Given the description of an element on the screen output the (x, y) to click on. 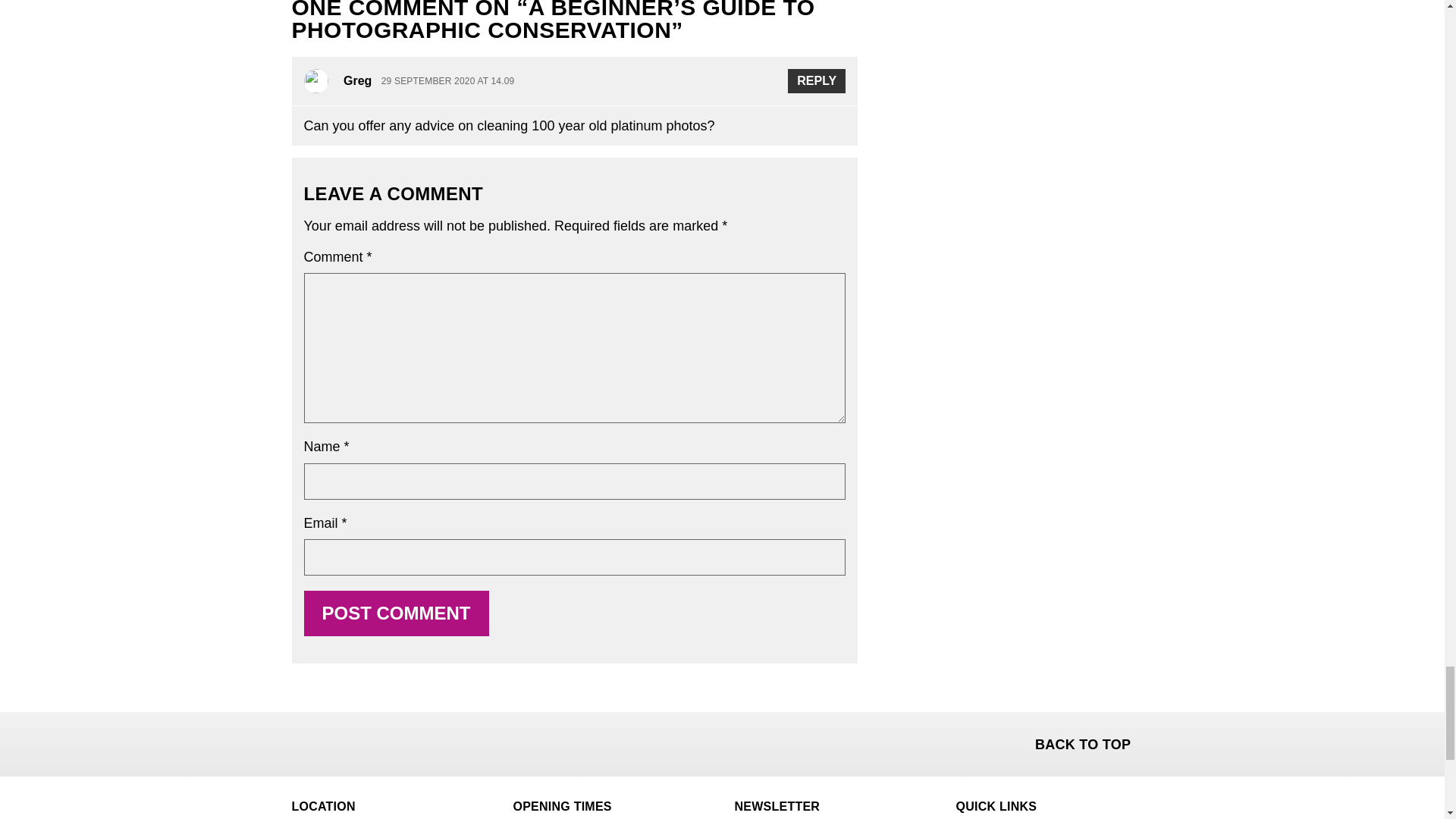
Share on facebook (304, 741)
Post Comment (394, 613)
Post Comment (394, 613)
REPLY (816, 80)
29 SEPTEMBER 2020 AT 14.09 (448, 81)
Share by email (384, 741)
Tweet this (344, 741)
